Given the description of an element on the screen output the (x, y) to click on. 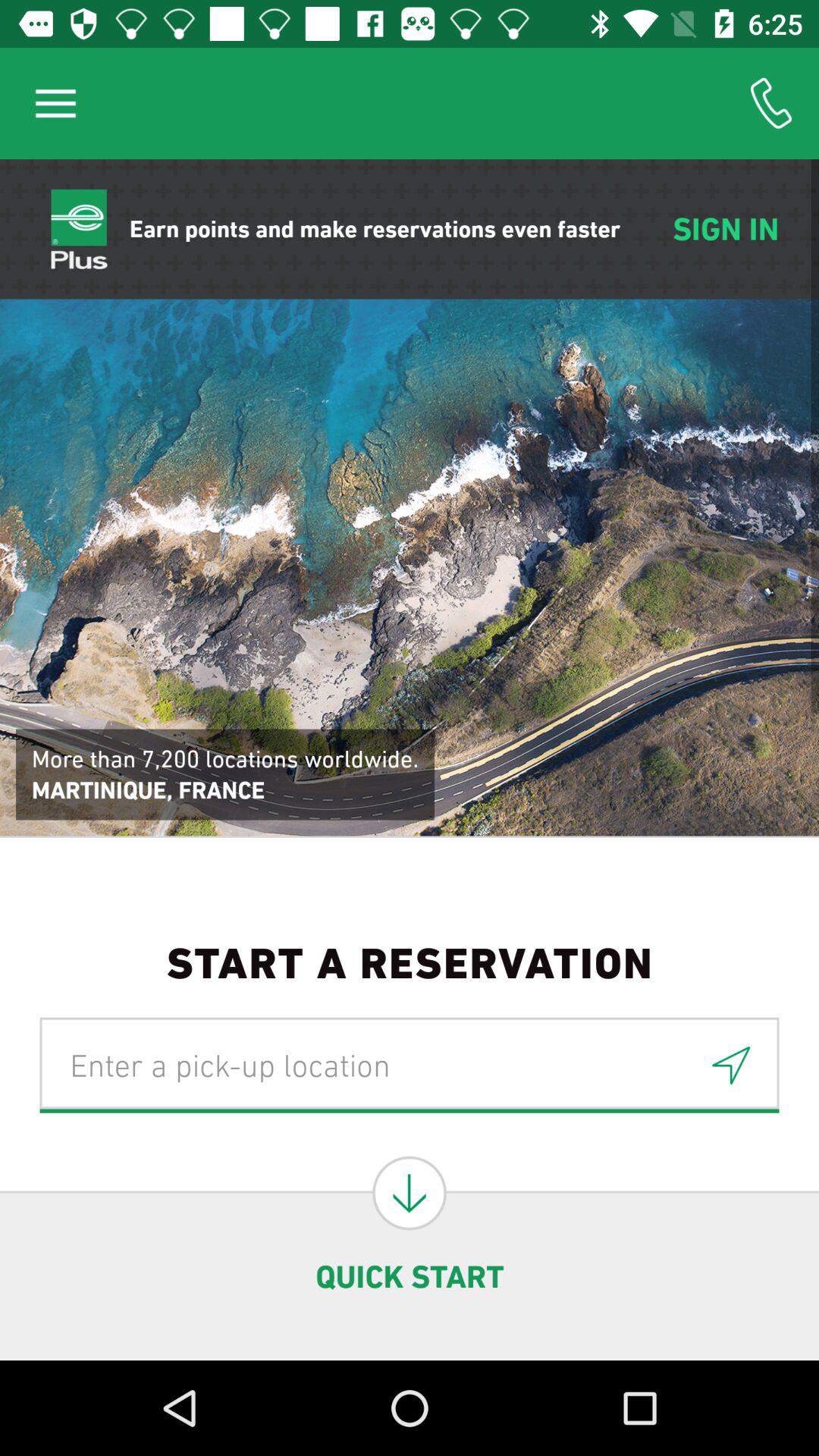
enter location (731, 1065)
